Given the description of an element on the screen output the (x, y) to click on. 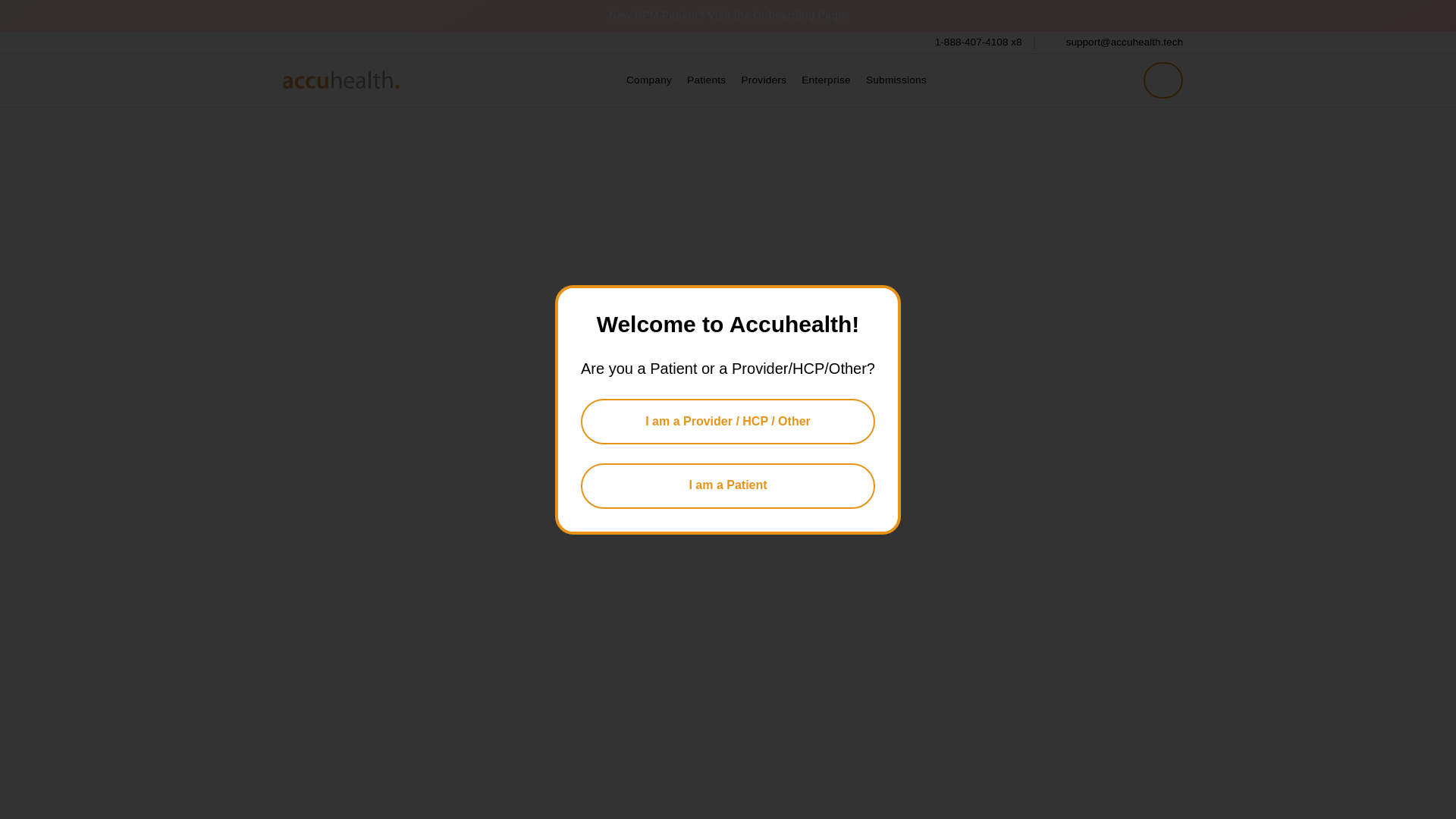
Home (341, 80)
I am a Patient (727, 484)
Enterprise (826, 80)
Patients (968, 42)
New RPM Patient? Visit the Onboarding Page. (706, 80)
Submissions (727, 15)
Company (896, 80)
Providers (648, 80)
